Given the description of an element on the screen output the (x, y) to click on. 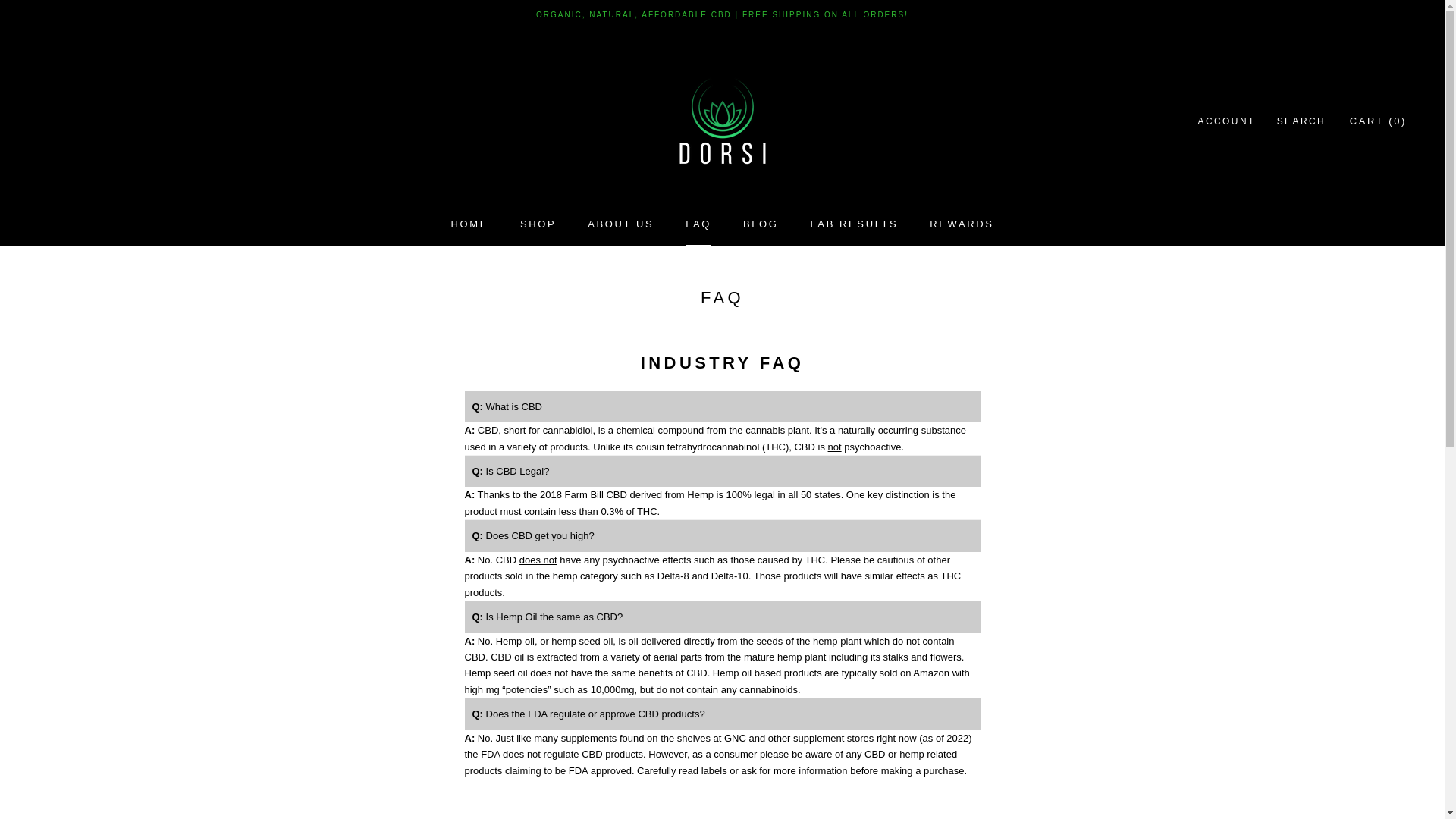
SHOP (537, 224)
BLOG (698, 224)
SEARCH (961, 224)
ACCOUNT (760, 224)
